Given the description of an element on the screen output the (x, y) to click on. 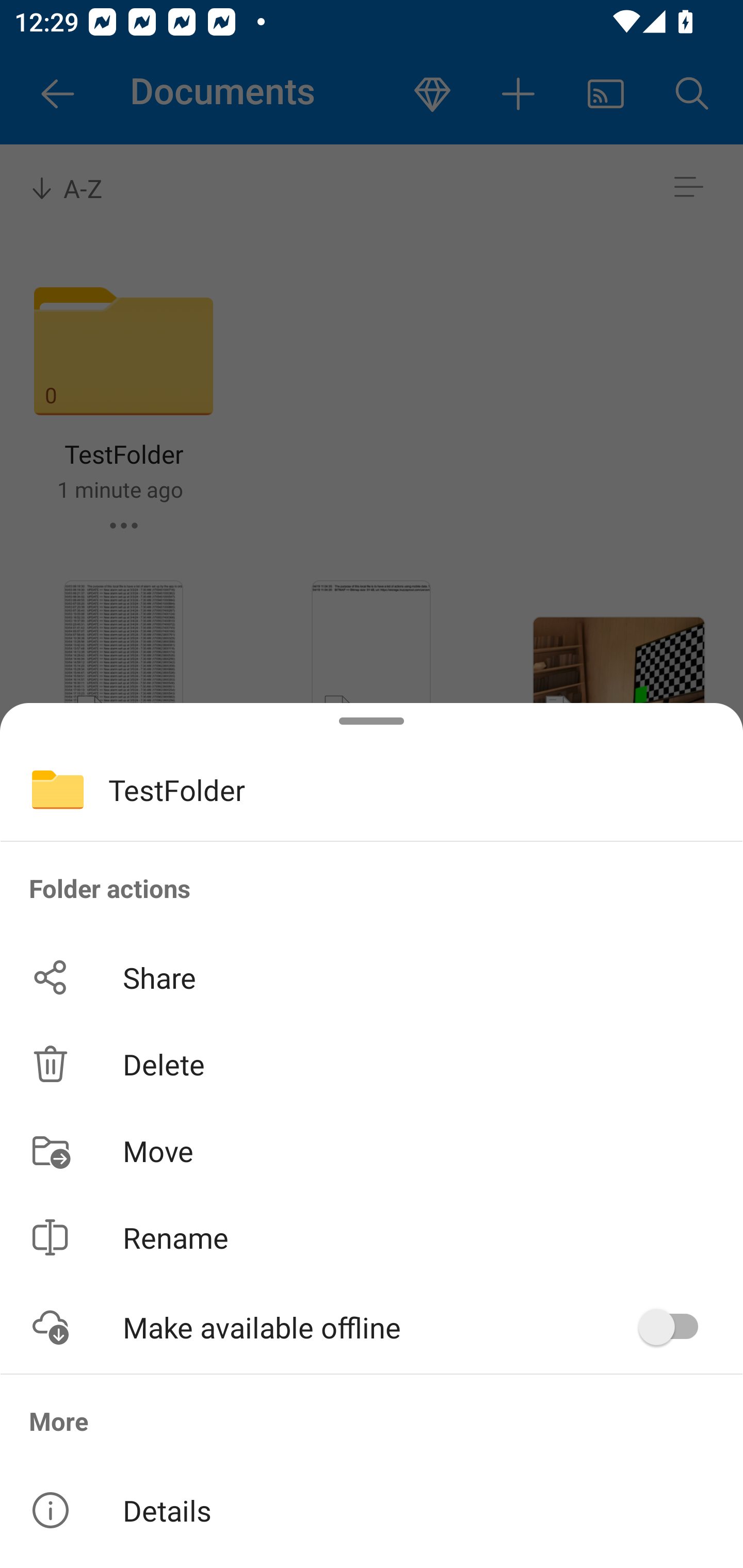
Share button Share (371, 977)
Delete button Delete (371, 1063)
Move button Move (371, 1150)
Rename button Rename (371, 1237)
Make offline operation (674, 1327)
Details button Details (371, 1510)
